Given the description of an element on the screen output the (x, y) to click on. 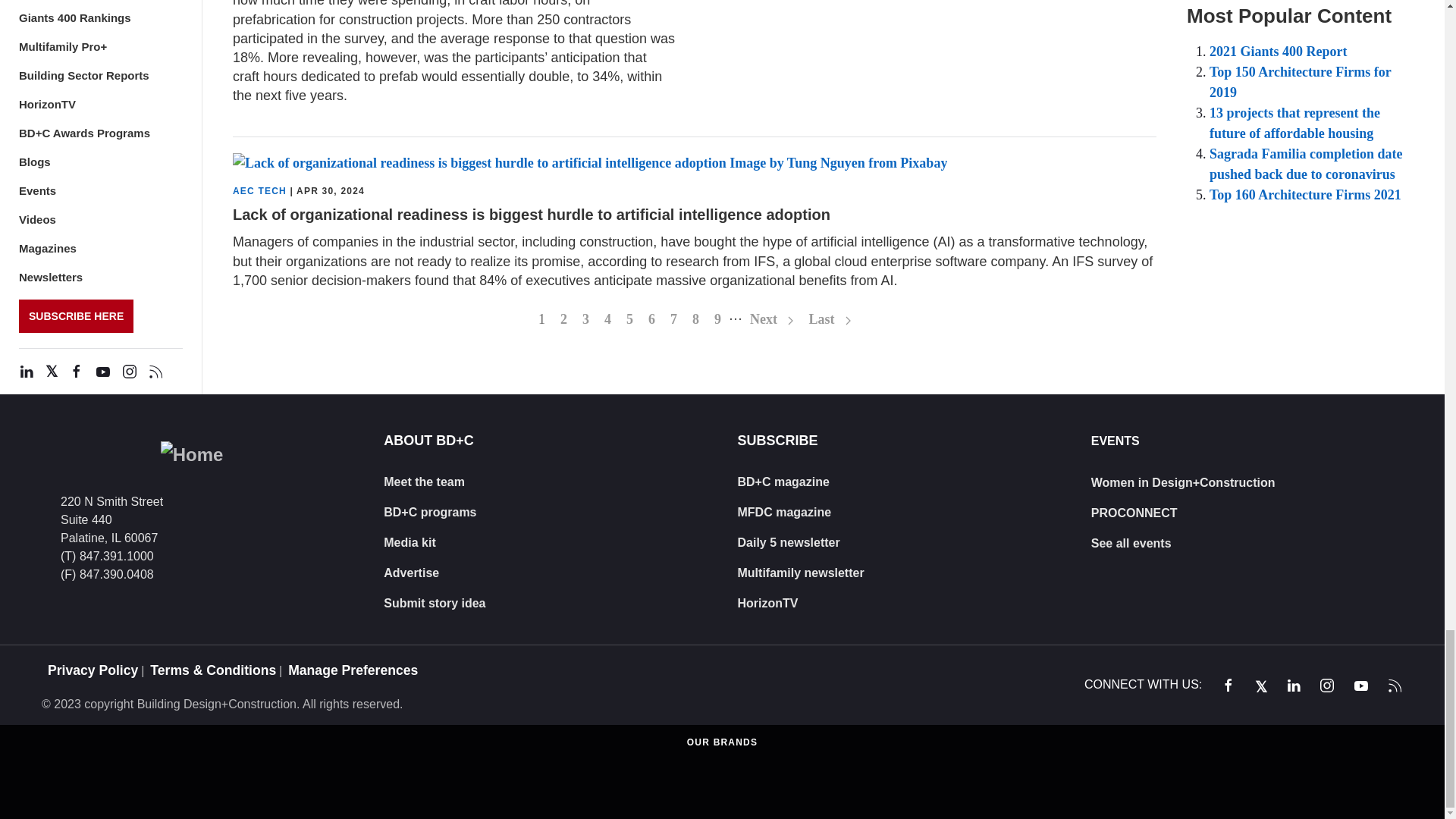
Go to next page (771, 319)
Go to last page (829, 319)
Home (192, 454)
